Given the description of an element on the screen output the (x, y) to click on. 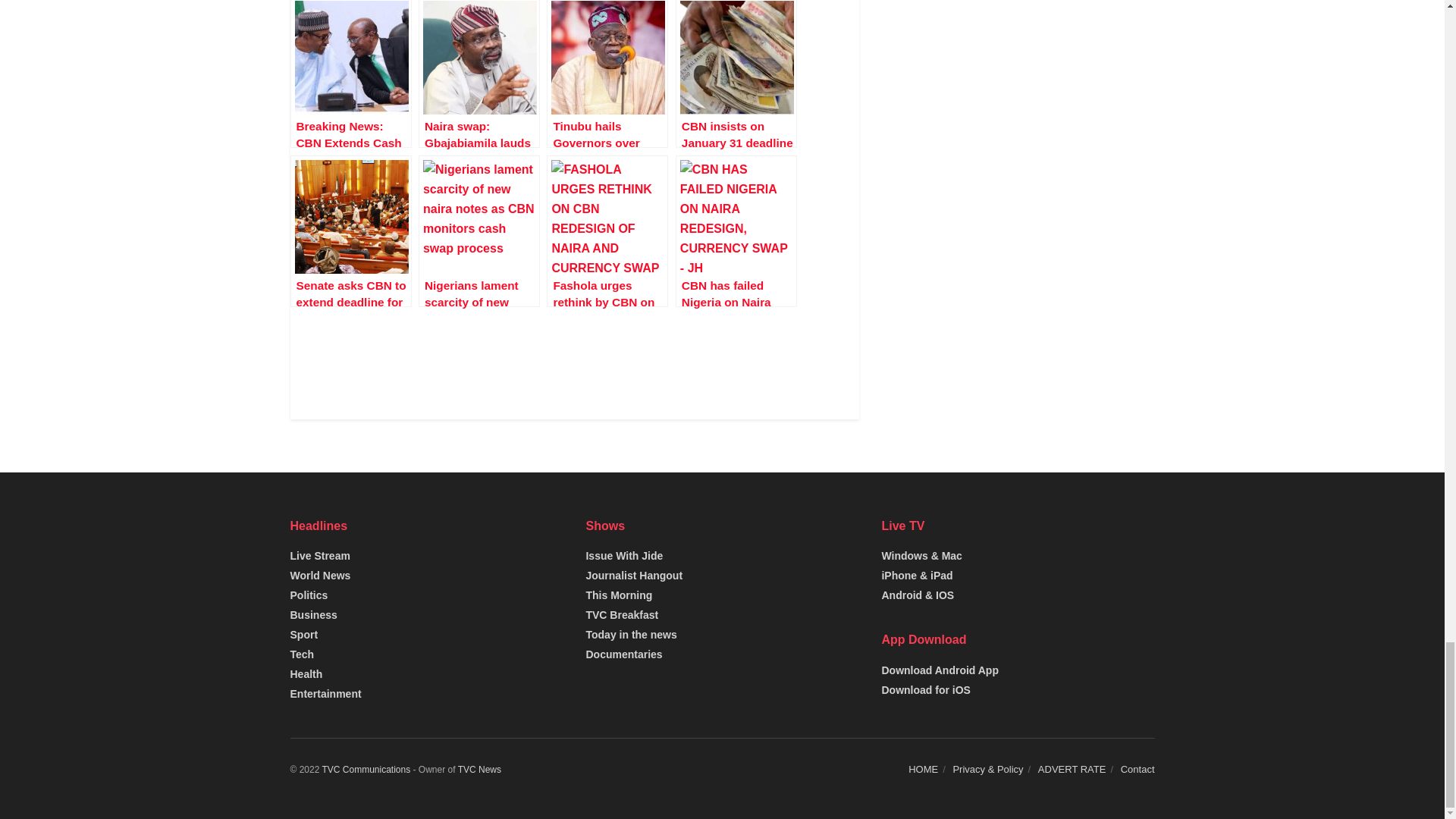
TVC News (479, 769)
